Given the description of an element on the screen output the (x, y) to click on. 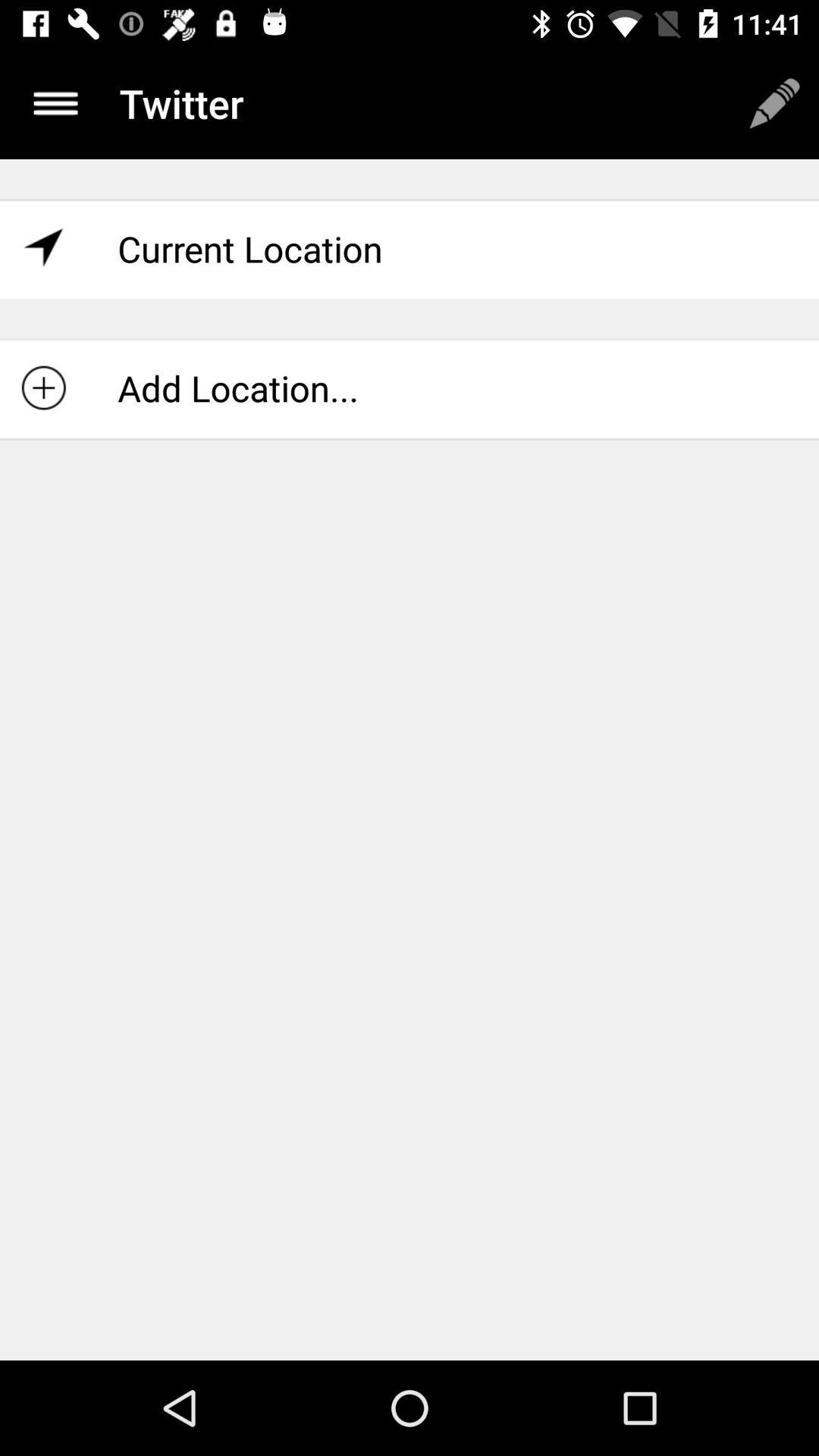
choose icon at the top right corner (774, 103)
